Given the description of an element on the screen output the (x, y) to click on. 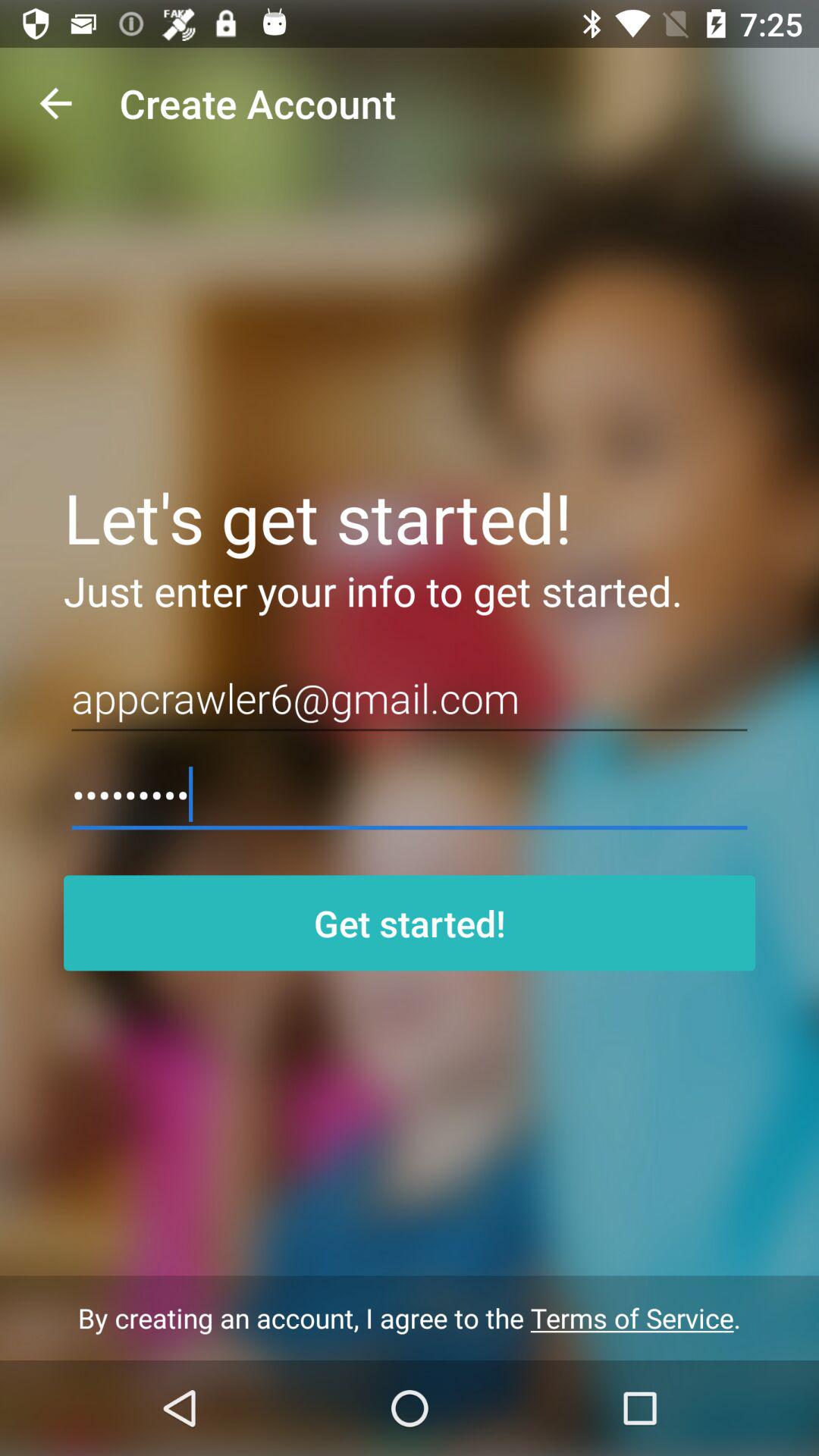
launch icon below get started! (409, 1317)
